Given the description of an element on the screen output the (x, y) to click on. 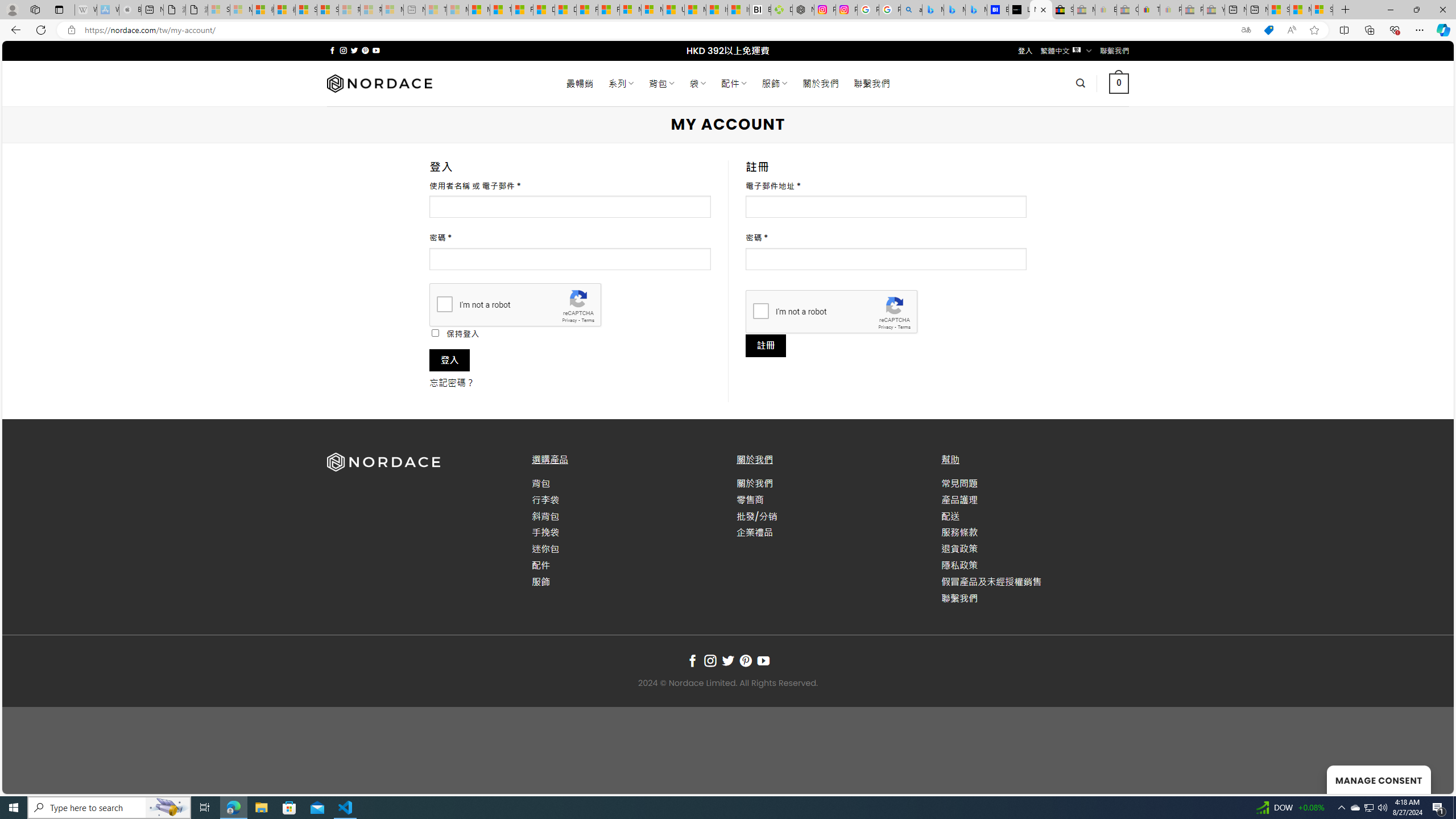
Foo BAR | Trusted Community Engagement and Contributions (608, 9)
